Given the description of an element on the screen output the (x, y) to click on. 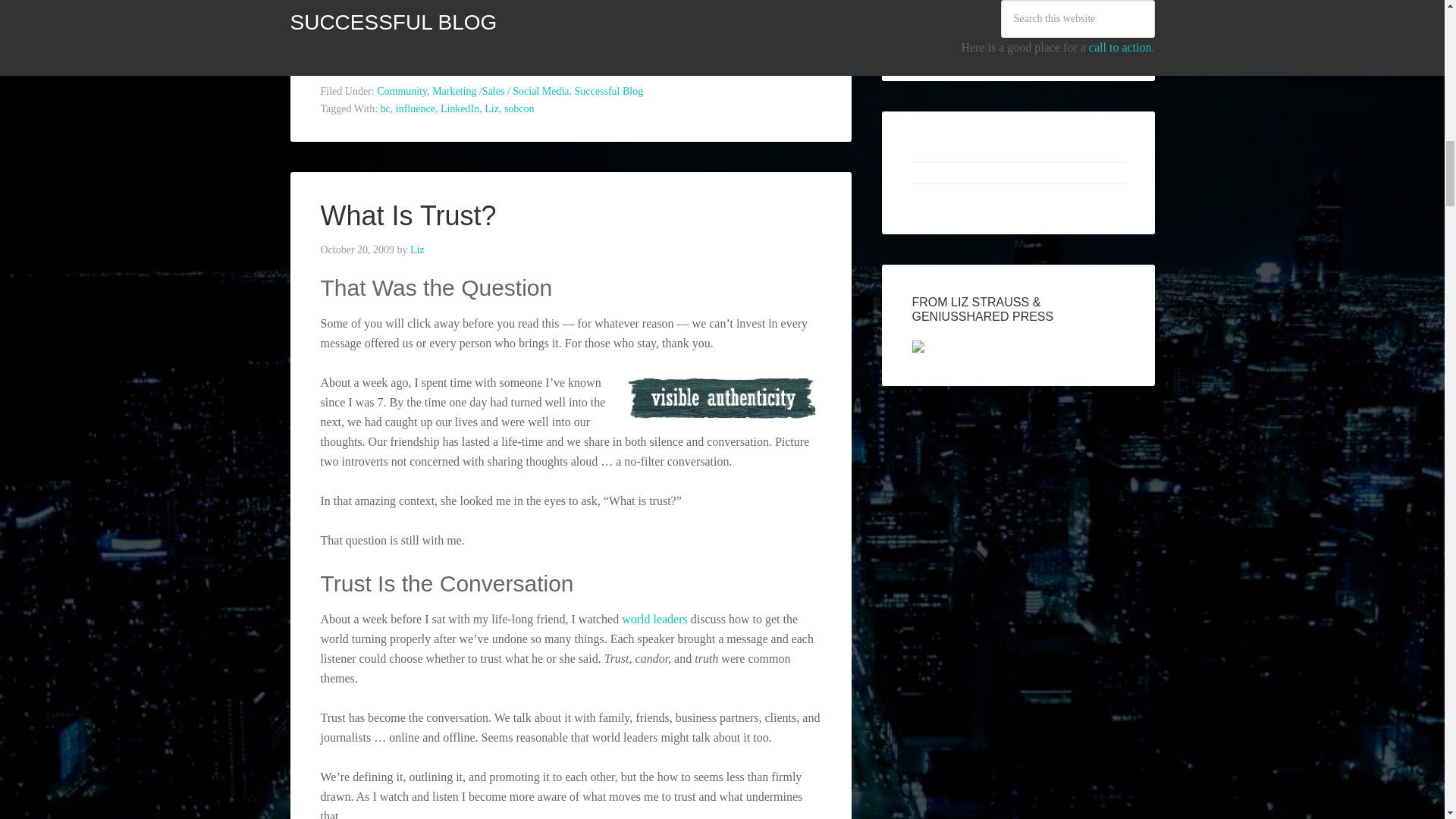
Community (401, 91)
Liz (417, 249)
third-tribe-marketing (570, 18)
Successful Blog (609, 91)
Liz (491, 108)
influence (415, 108)
bc (385, 108)
visibleauthenticityredux-250 (720, 399)
world leaders (654, 618)
sobcon (518, 108)
LinkedIn (460, 108)
What Is Trust? (408, 214)
